Given the description of an element on the screen output the (x, y) to click on. 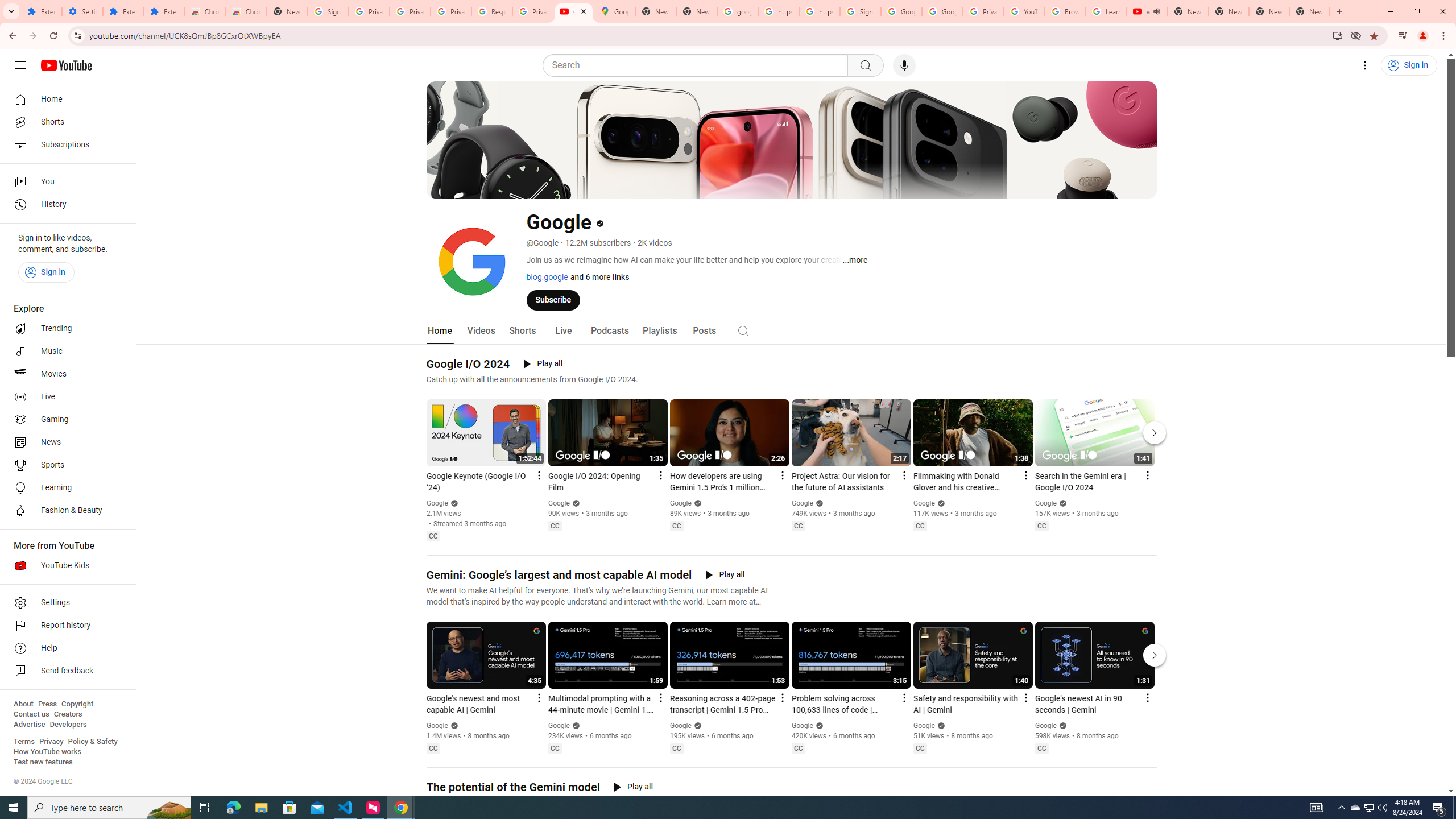
Trending (64, 328)
Live (64, 396)
Chrome Web Store - Themes (246, 11)
How YouTube works (47, 751)
History (64, 204)
Subscribe (552, 299)
YouTube Home (66, 65)
Developers (68, 724)
